Given the description of an element on the screen output the (x, y) to click on. 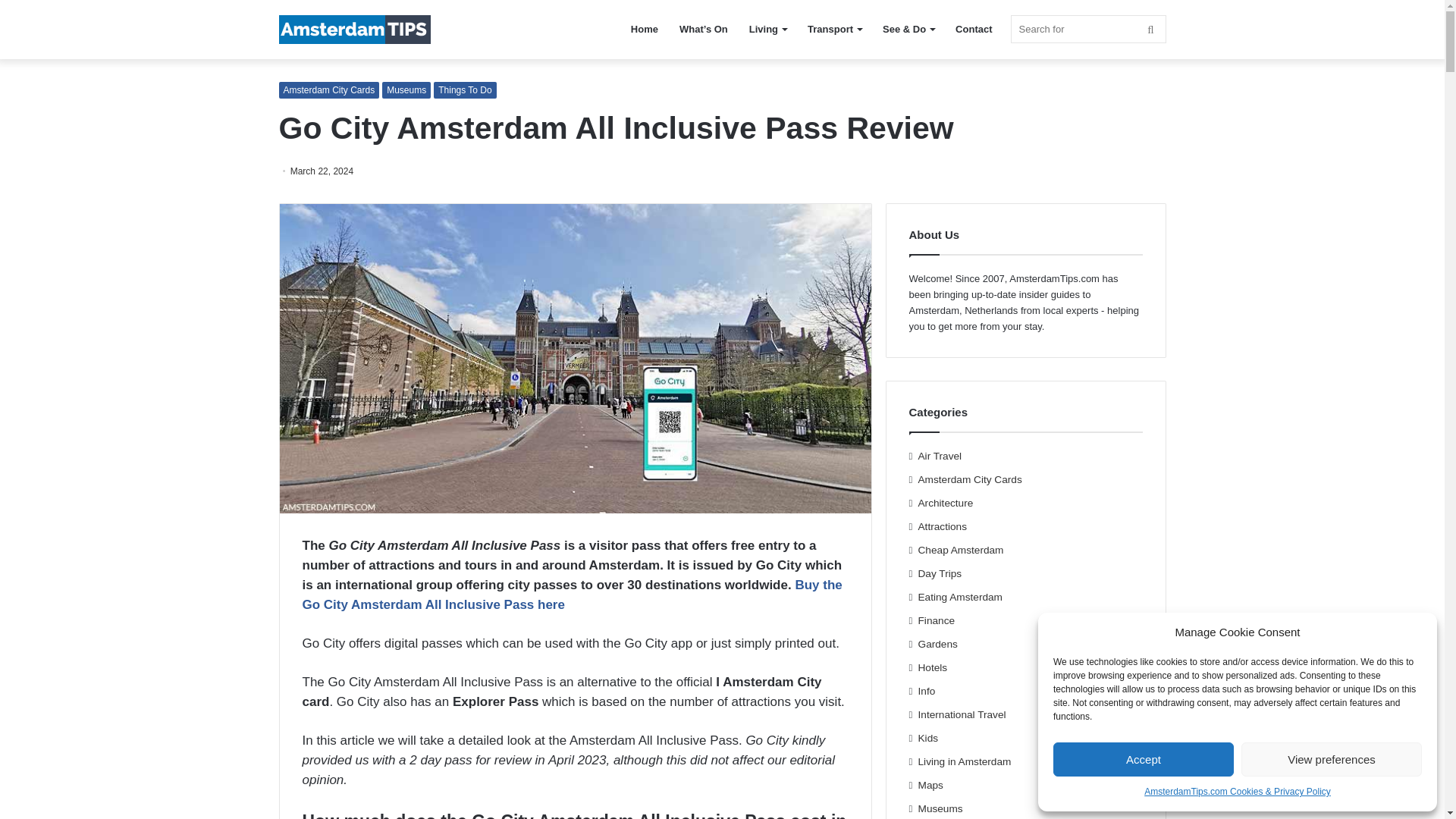
Gardens and parks in Amsterdam. (938, 643)
Things To Do (464, 89)
AmsterdamTips.com (354, 29)
Living (767, 29)
Things to do with children in Amsterdam, Netherlands. (928, 738)
Buy the Go City Amsterdam All Inclusive Pass here (571, 594)
Search for (1088, 29)
Museums (405, 89)
View preferences (1331, 759)
Amsterdam City Cards (329, 89)
